Given the description of an element on the screen output the (x, y) to click on. 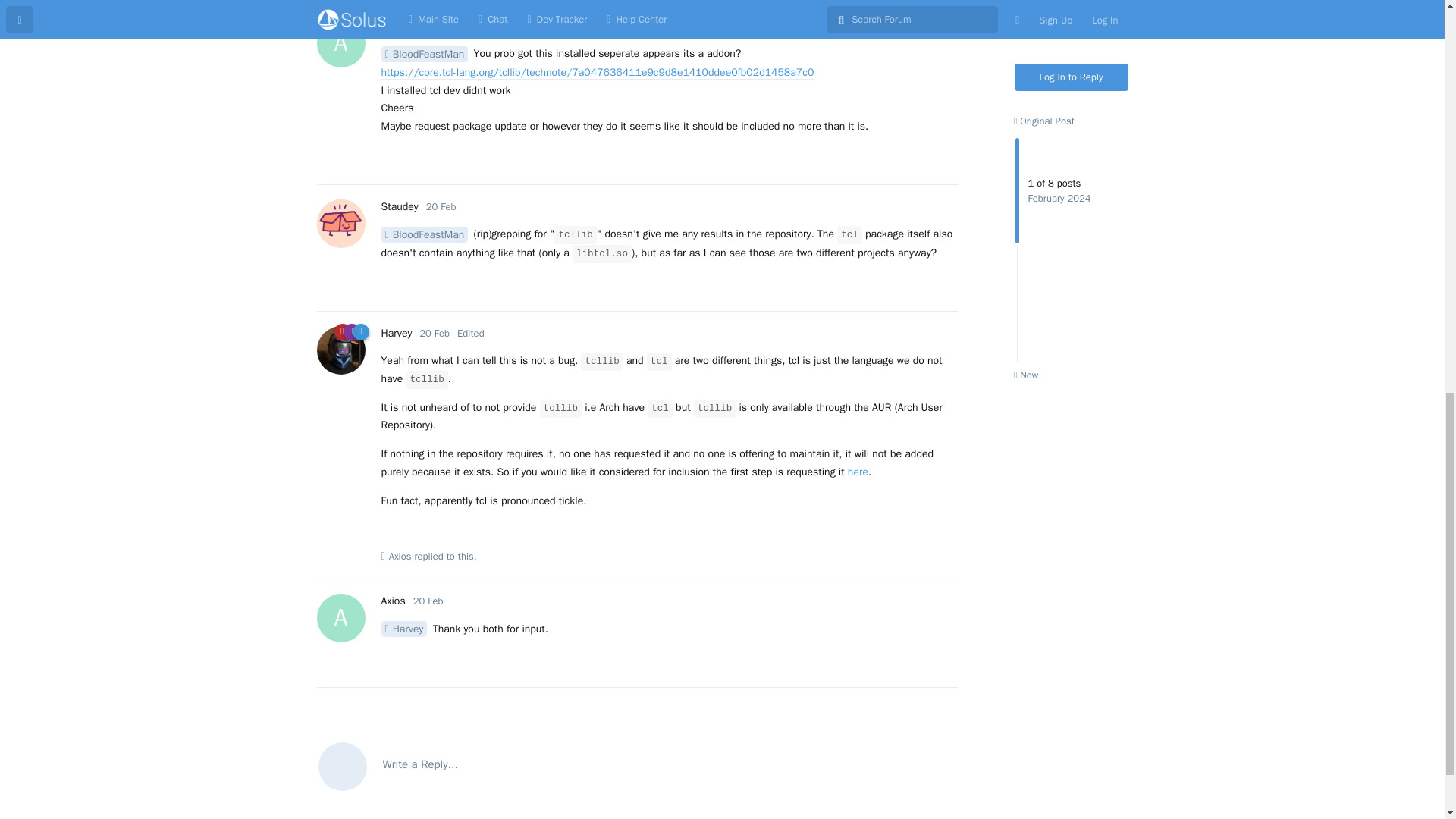
BloodFeastMan (423, 53)
Staudey (398, 205)
Tuesday, February 20, 2024 2:42 AM (428, 25)
Tuesday, February 20, 2024 7:13 AM (392, 25)
Tuesday, February 20, 2024 7:05 AM (428, 600)
Tuesday, February 20, 2024 6:36 AM (434, 332)
20 Feb (441, 205)
